Given the description of an element on the screen output the (x, y) to click on. 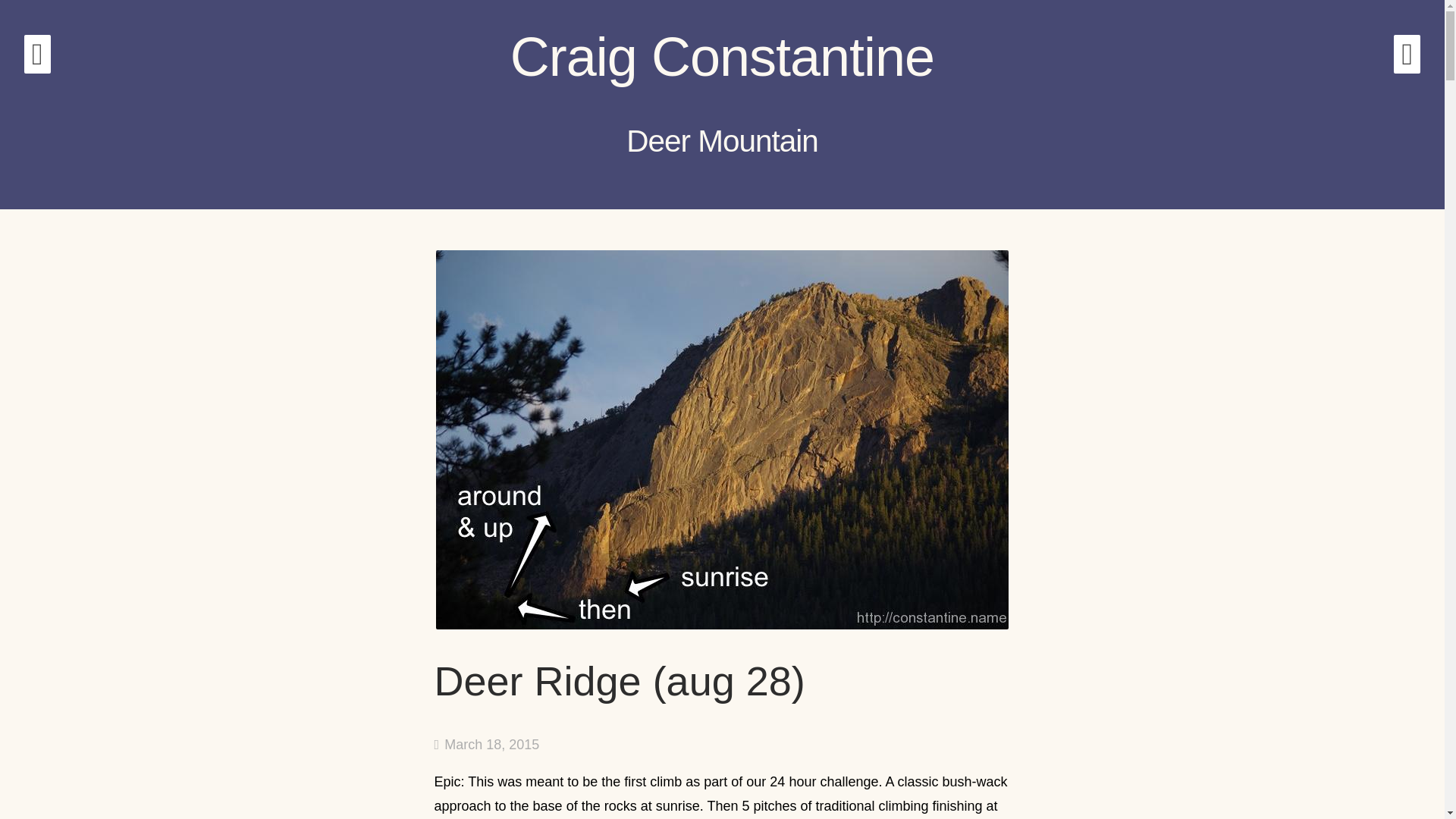
Craig Constantine (722, 56)
March 18, 2015 (485, 744)
